Given the description of an element on the screen output the (x, y) to click on. 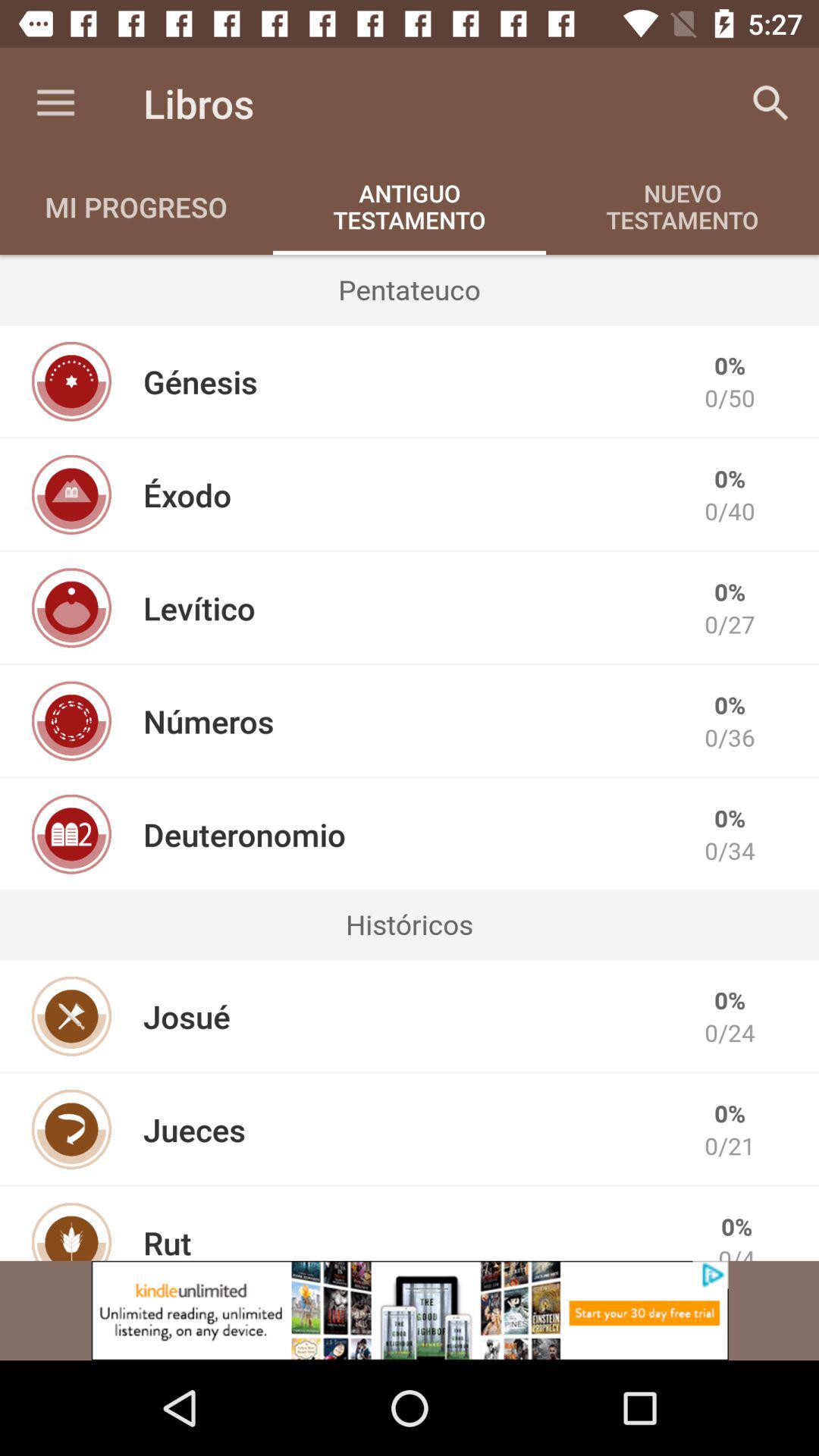
turn off icon above the mi progreso (55, 103)
